Given the description of an element on the screen output the (x, y) to click on. 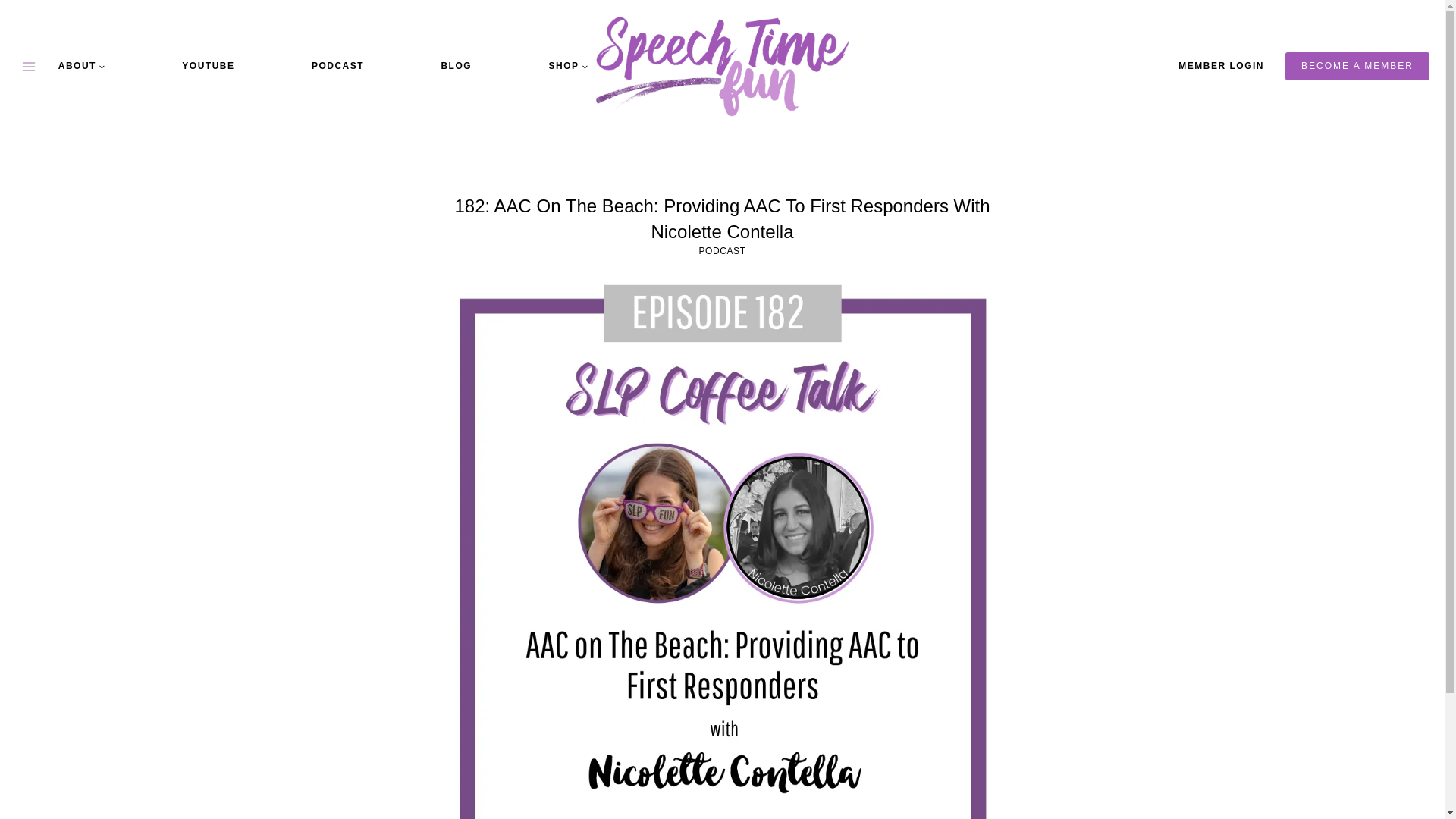
BECOME A MEMBER (1357, 65)
MEMBER LOGIN (1221, 65)
BLOG (455, 65)
PODCAST (721, 250)
PODCAST (337, 65)
SHOP (567, 65)
YOUTUBE (207, 65)
ABOUT (81, 65)
